Given the description of an element on the screen output the (x, y) to click on. 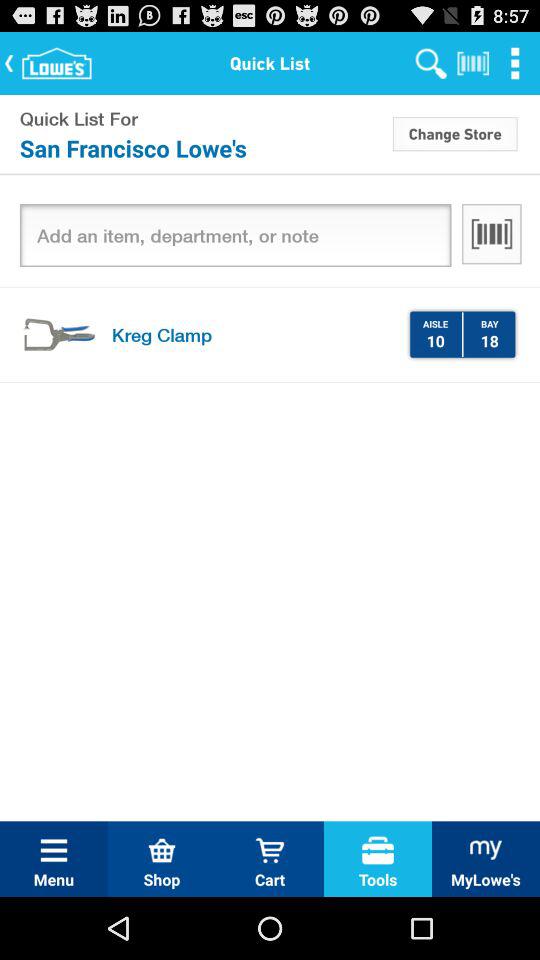
select 18 item (489, 340)
